Given the description of an element on the screen output the (x, y) to click on. 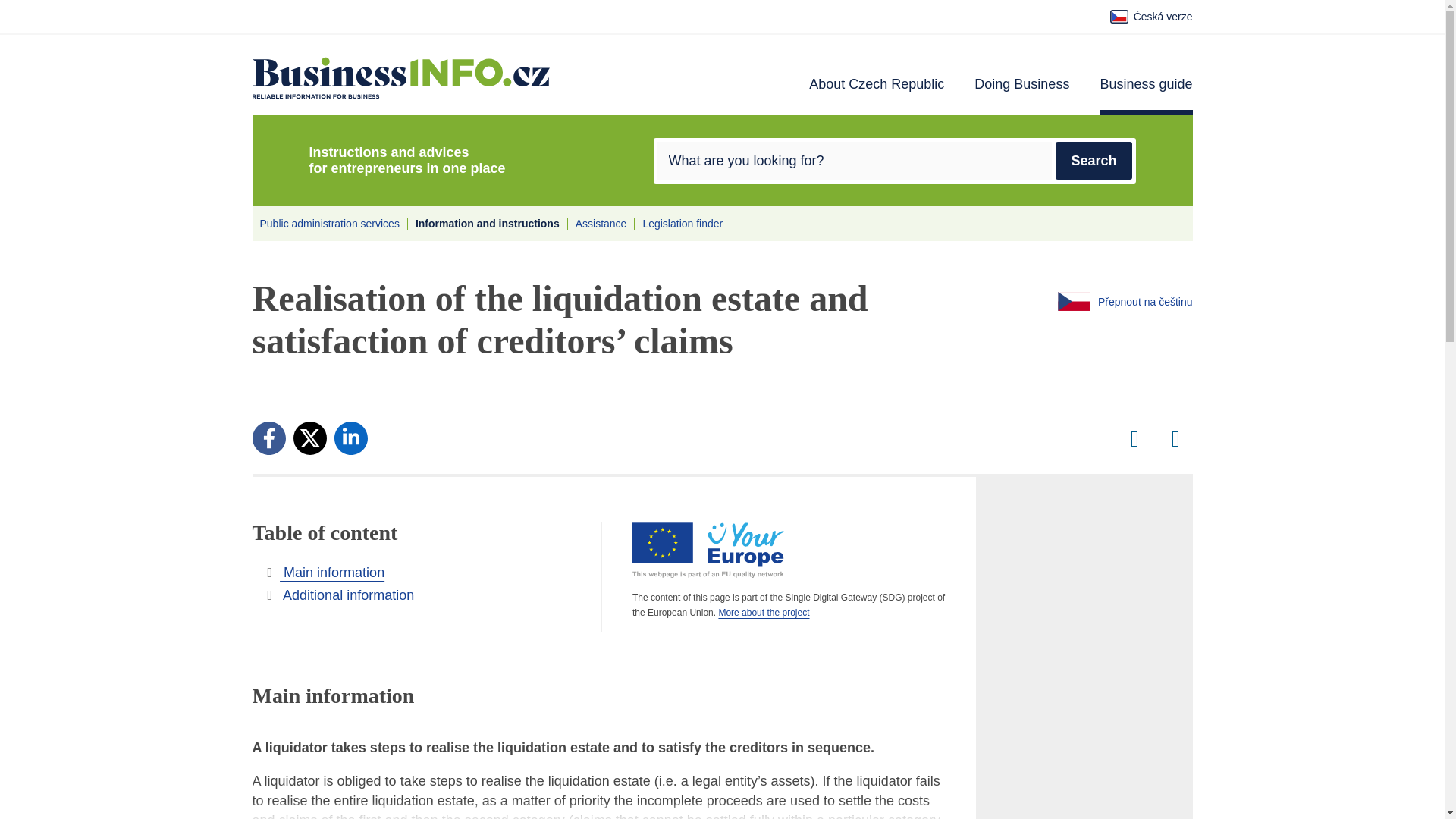
Icon X (310, 438)
Doing Business (1021, 95)
Public administration services (329, 223)
Logo BusinessInfo (399, 77)
Icon LinkedIn (351, 438)
Information and instructions (487, 223)
Assistance (600, 223)
Icon X (310, 438)
Business guide (1145, 95)
Additional information (339, 595)
